Given the description of an element on the screen output the (x, y) to click on. 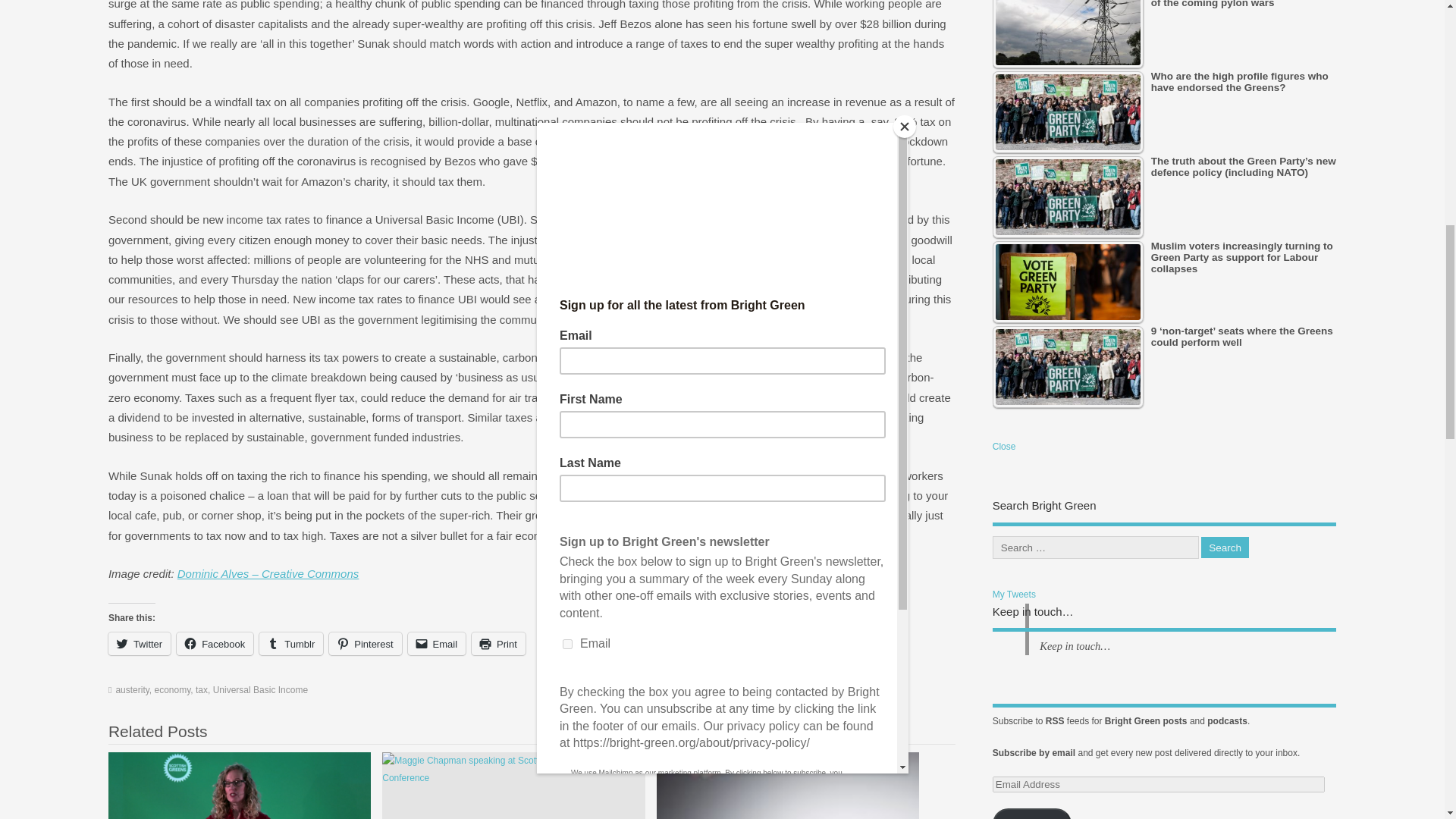
Click to share on Pinterest (365, 643)
economy (172, 689)
Click to print (498, 643)
Tumblr (291, 643)
Search (1225, 547)
Universal Basic Income (259, 689)
Search (1225, 547)
Click to email a link to a friend (436, 643)
austerity (131, 689)
